Given the description of an element on the screen output the (x, y) to click on. 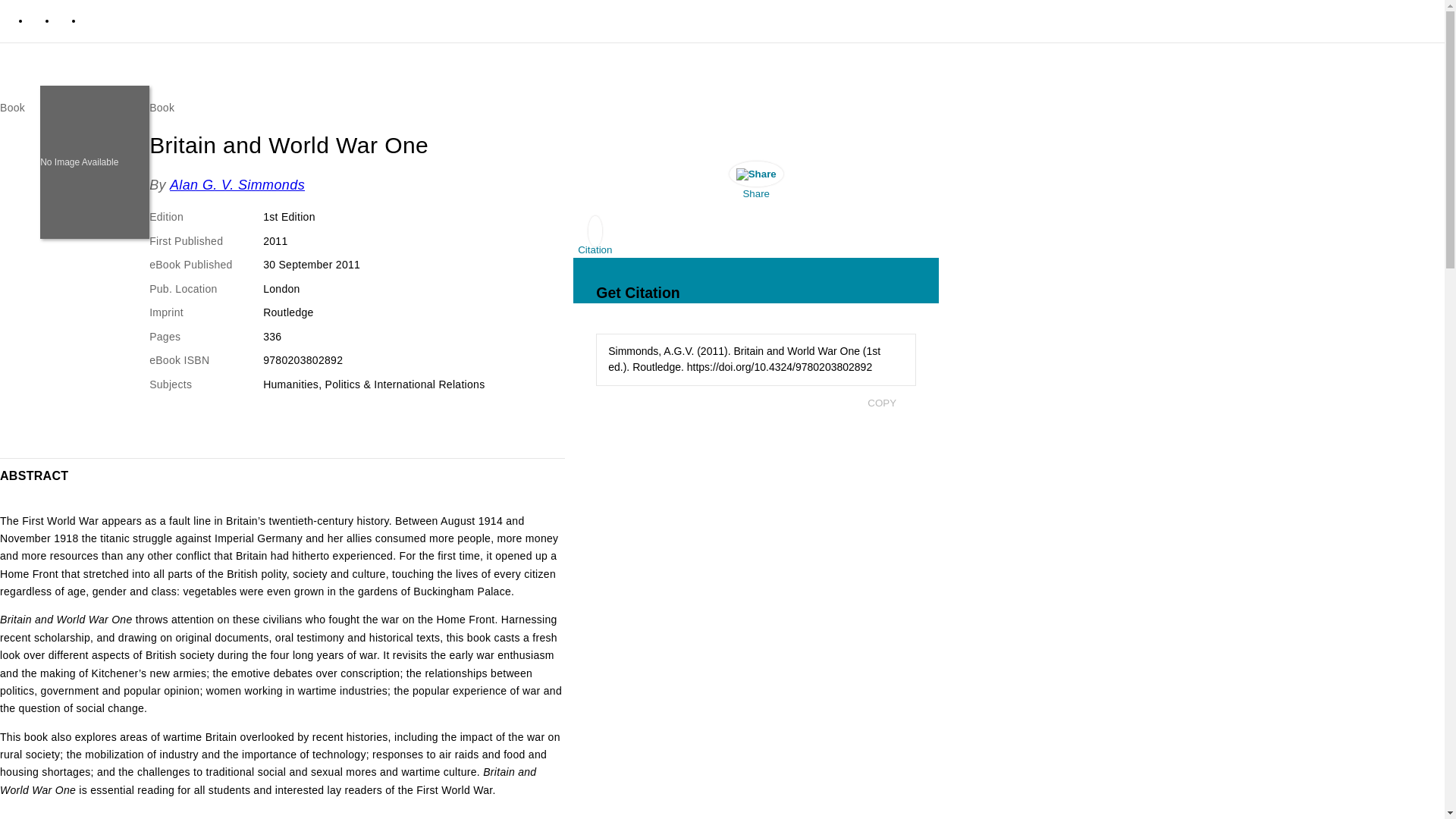
Alan G. V. Simmonds (237, 184)
Citation (594, 238)
COPY (881, 402)
Share (756, 183)
